Given the description of an element on the screen output the (x, y) to click on. 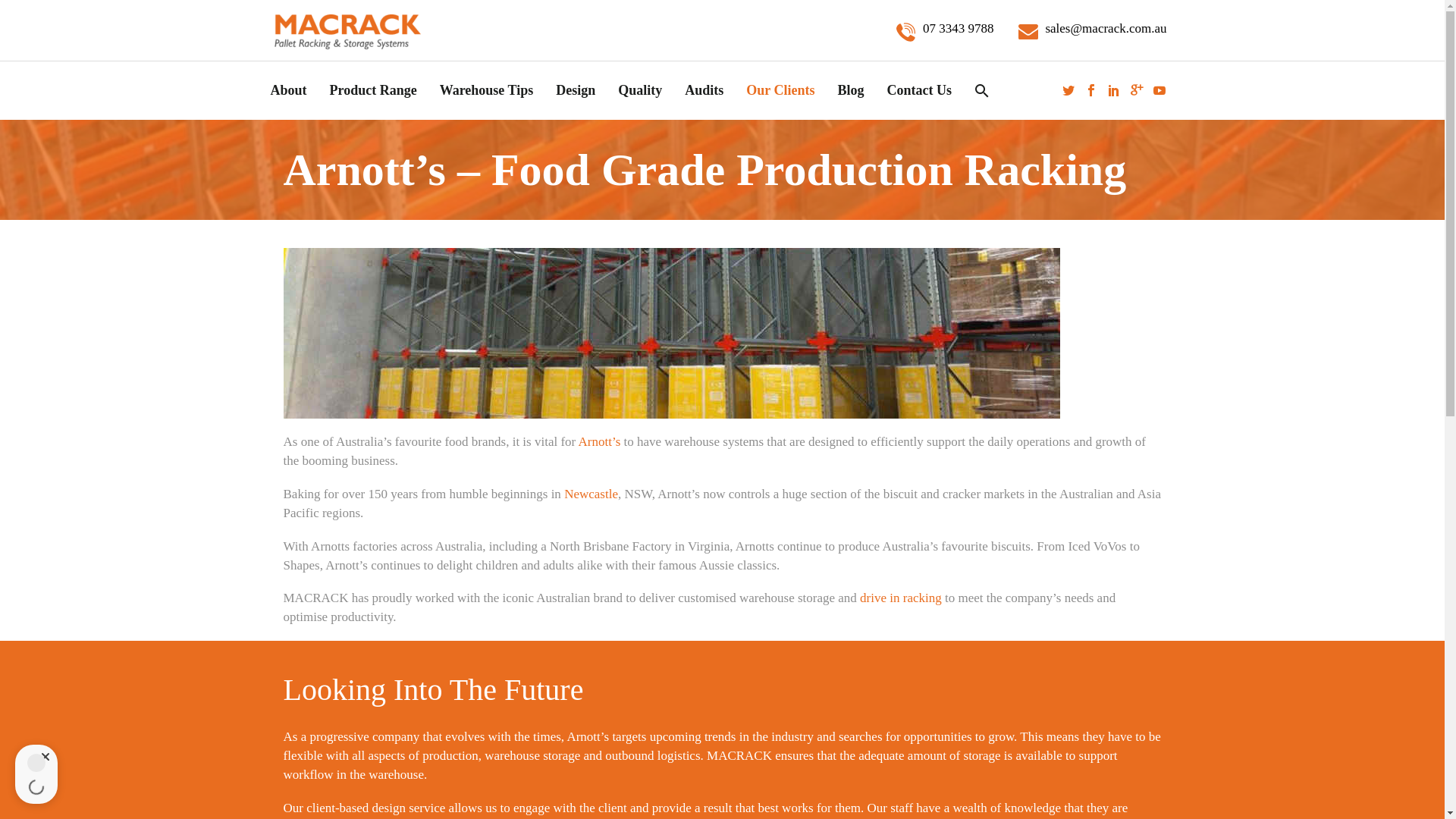
Quality (639, 90)
linkedin (1113, 90)
About (288, 90)
Design (575, 90)
Warehouse Tips (486, 90)
googleplus (1136, 90)
twitter (1068, 90)
youtube (1159, 90)
facebook (1091, 90)
Product Range (373, 90)
07 3343 9788 (945, 28)
Arrnots-reduced (671, 333)
